Given the description of an element on the screen output the (x, y) to click on. 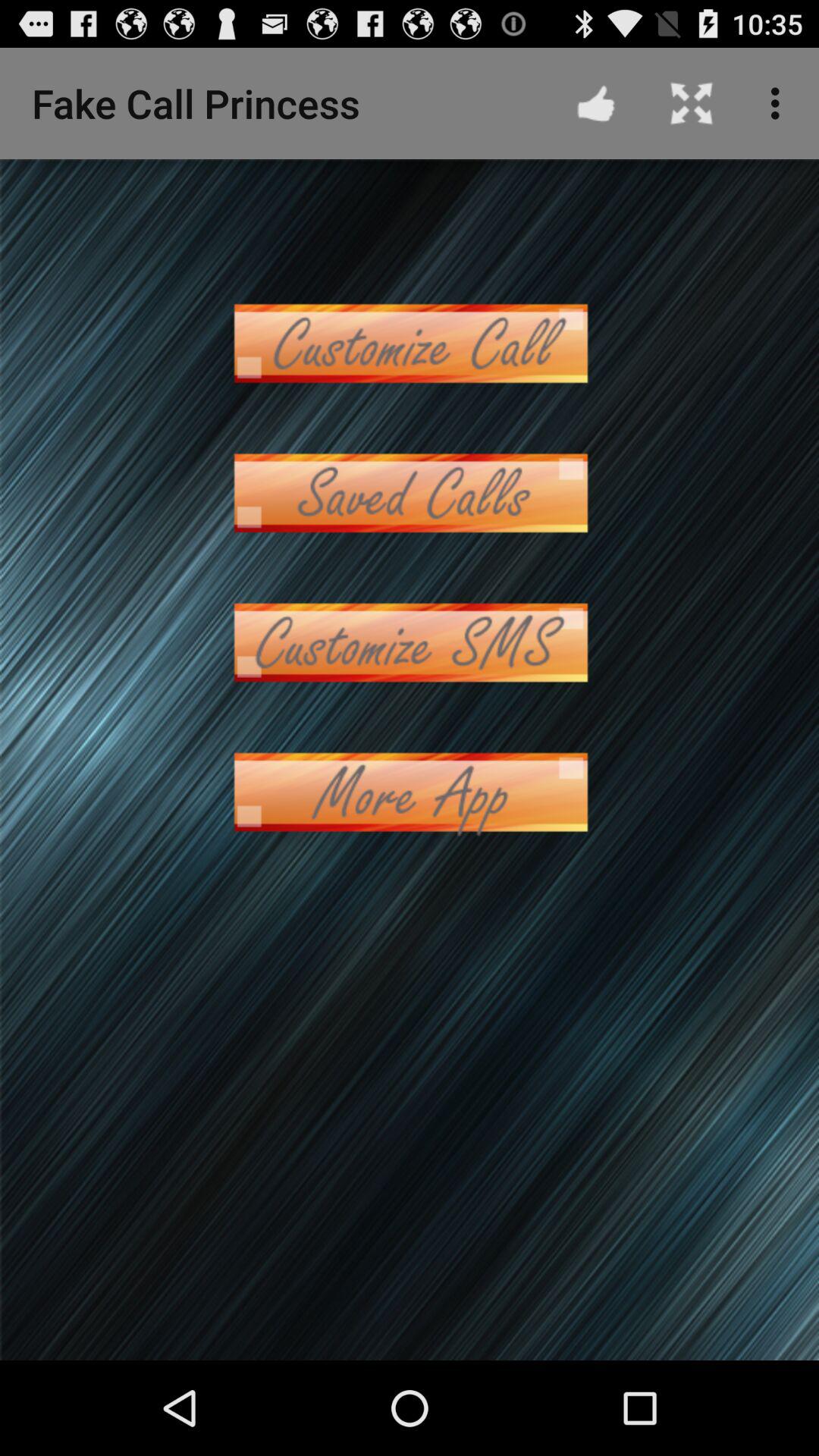
customize your call (409, 343)
